Given the description of an element on the screen output the (x, y) to click on. 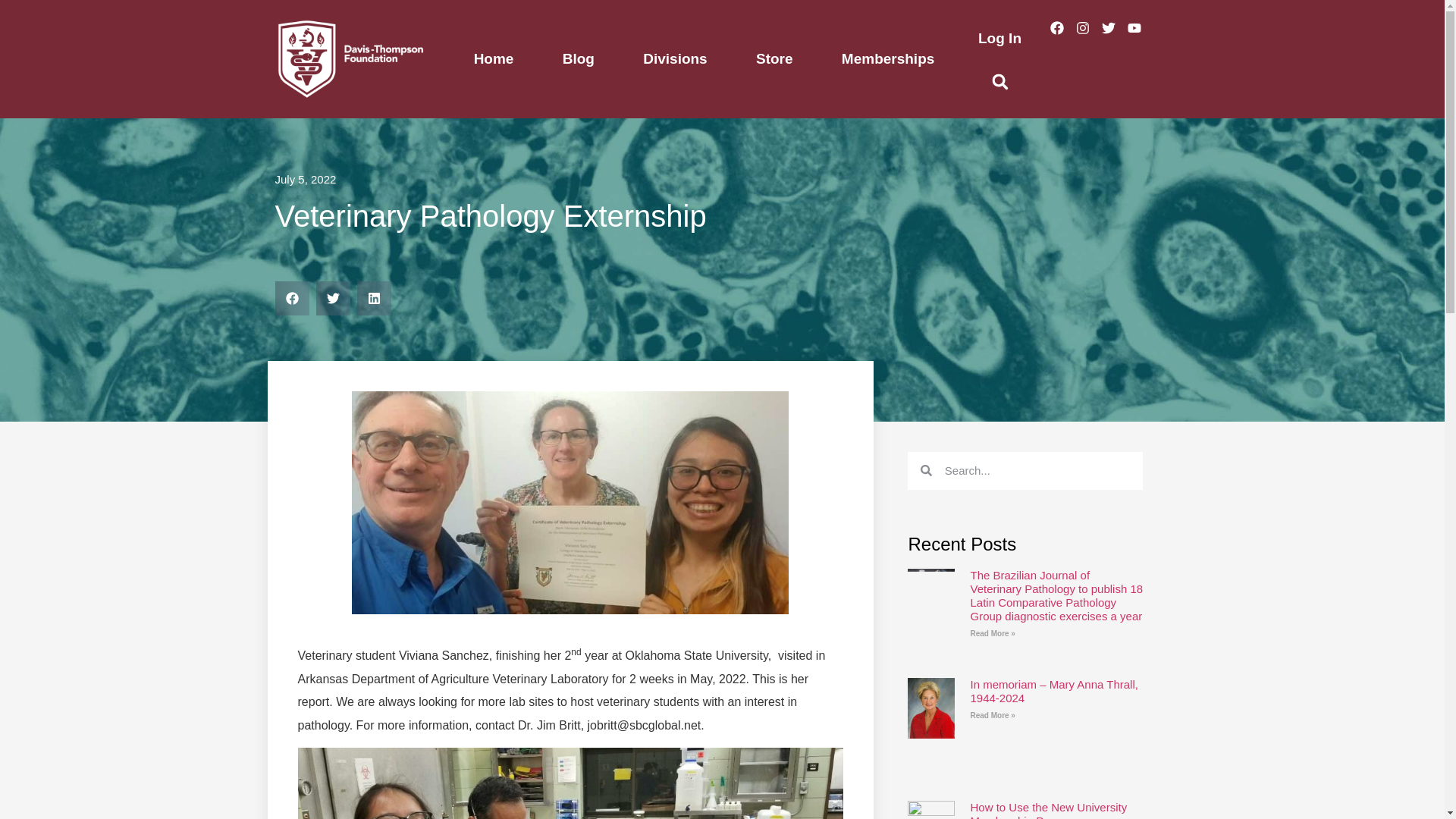
Blog (579, 58)
Store (774, 58)
Home (492, 58)
Log In (999, 38)
Memberships (887, 58)
Divisions (675, 58)
